Given the description of an element on the screen output the (x, y) to click on. 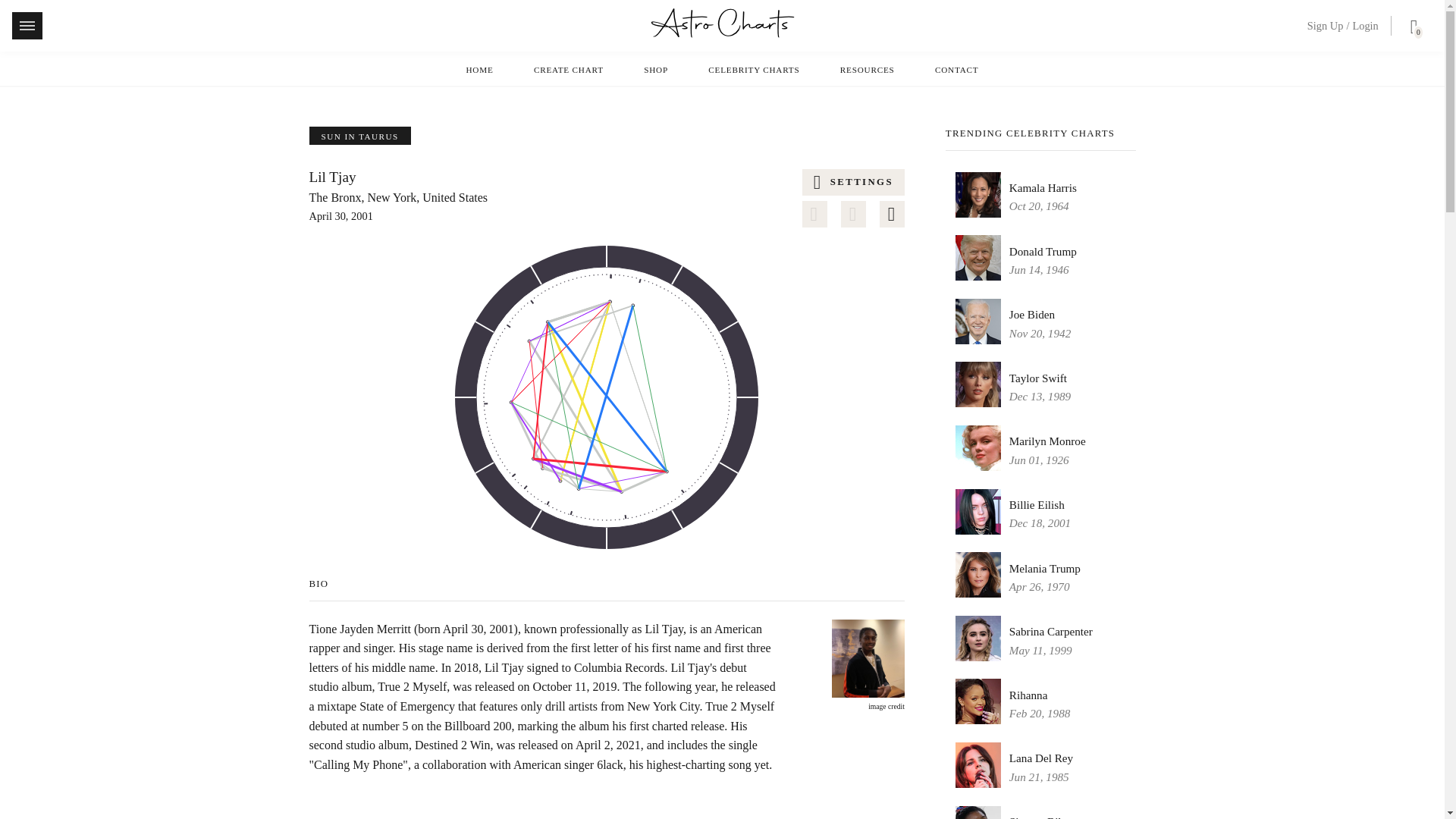
See chart aspect legend (891, 213)
See chart settings (853, 181)
HOME (479, 69)
Share chart (853, 213)
Login (1364, 25)
Save chart (814, 213)
0 (1410, 29)
CREATE CHART (569, 69)
Sign Up (1325, 25)
